Given the description of an element on the screen output the (x, y) to click on. 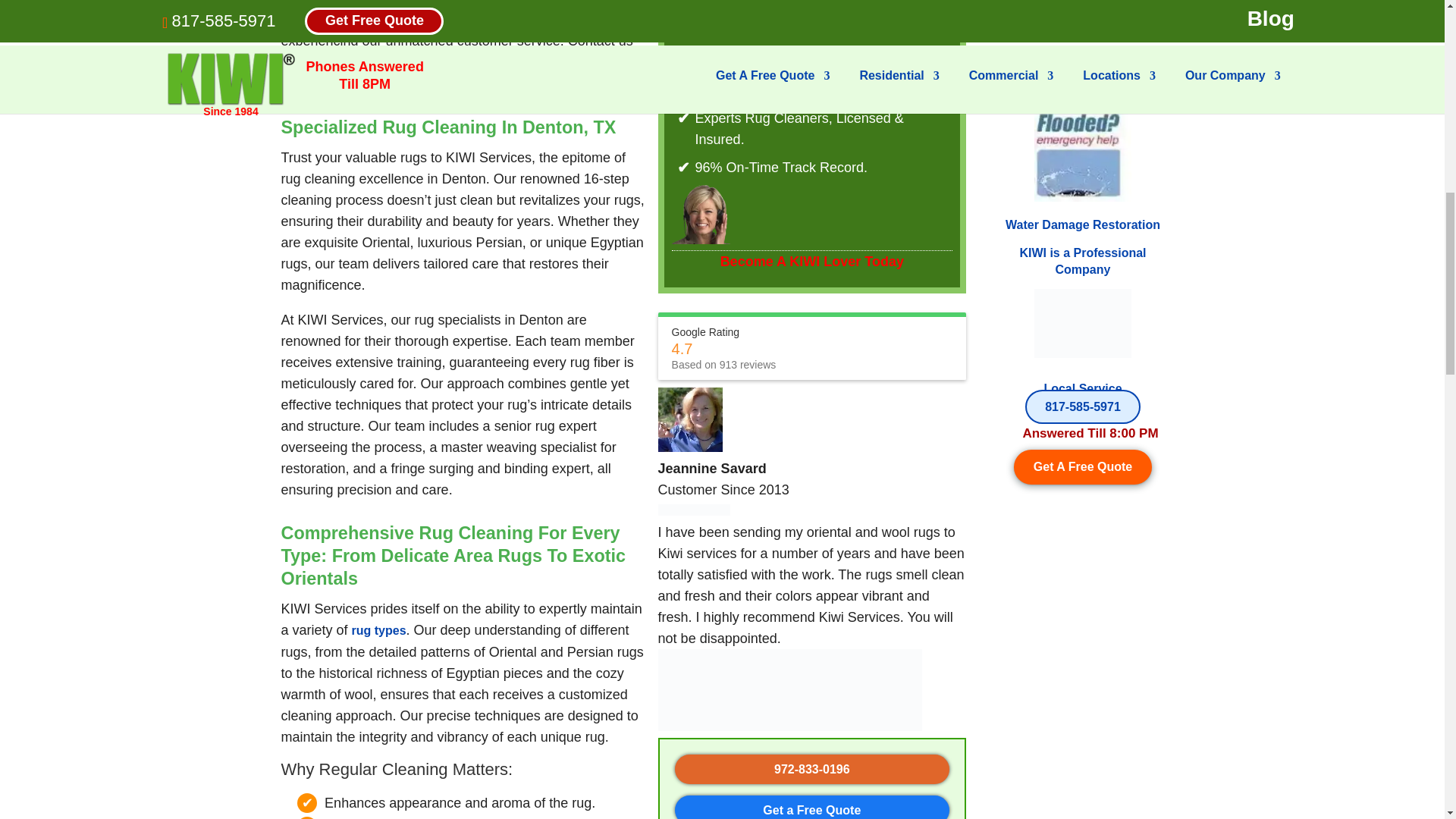
Call For This Week's Special (1082, 406)
Get Free Quote On This Week's Special (1082, 466)
Phones Answered Until Midnight (1082, 323)
